Given the description of an element on the screen output the (x, y) to click on. 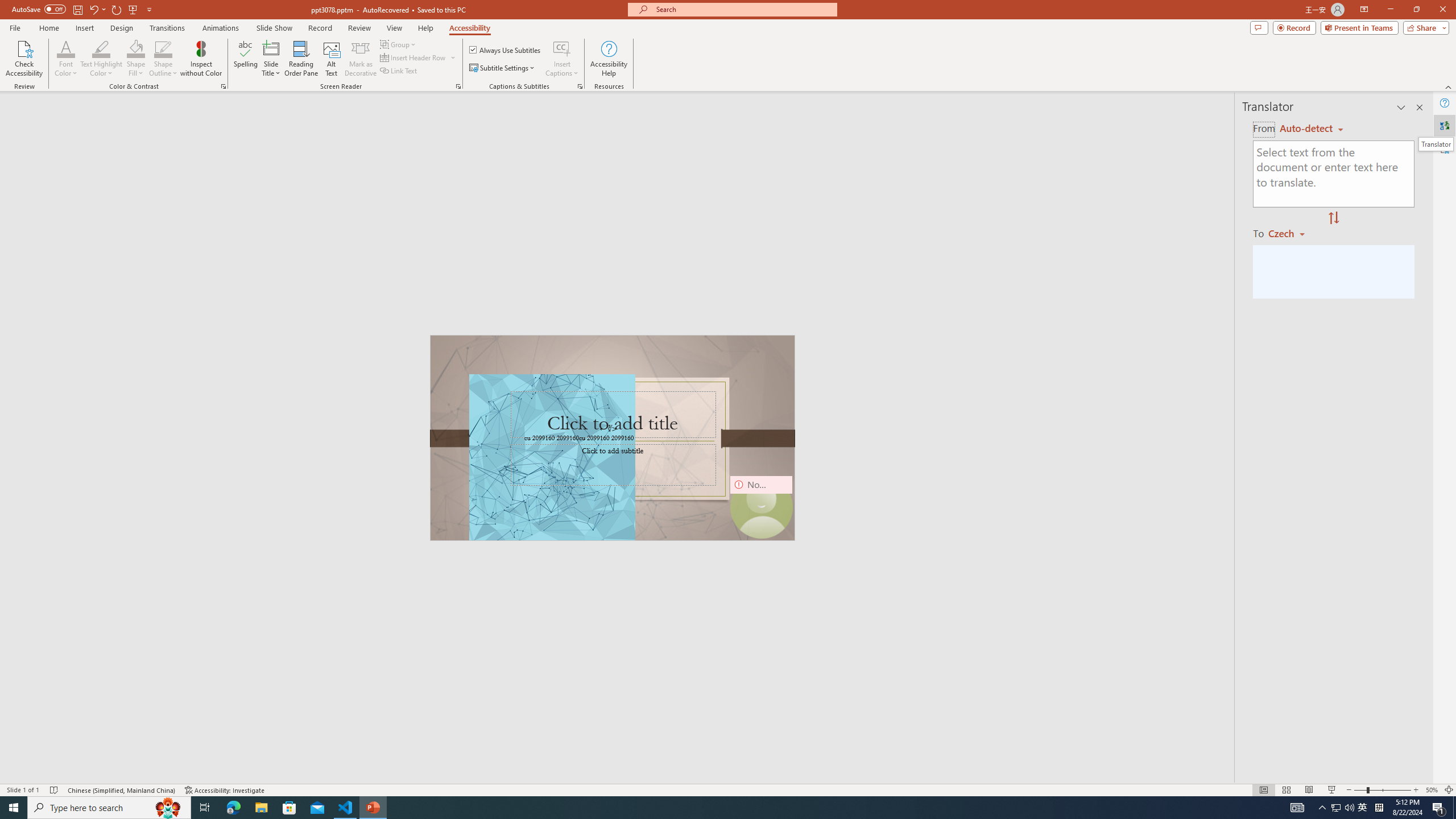
Link Text (399, 69)
Translator (1444, 125)
Captions & Subtitles (580, 85)
Insert Header Row (418, 56)
TextBox 61 (611, 438)
Shape Fill (135, 58)
TextBox 7 (608, 428)
Subtitle Settings (502, 67)
